Given the description of an element on the screen output the (x, y) to click on. 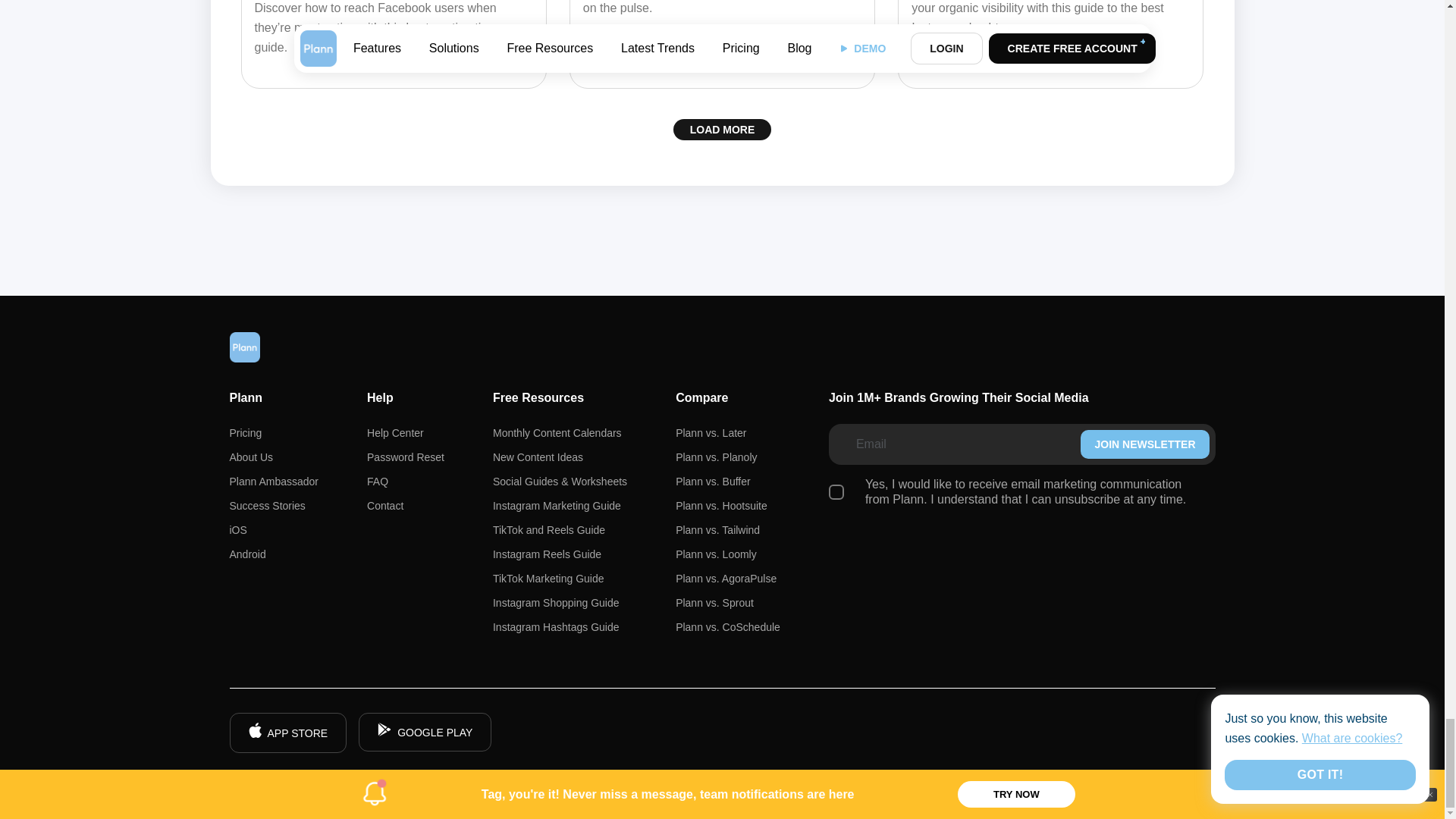
Join newsletter (1144, 443)
